Given the description of an element on the screen output the (x, y) to click on. 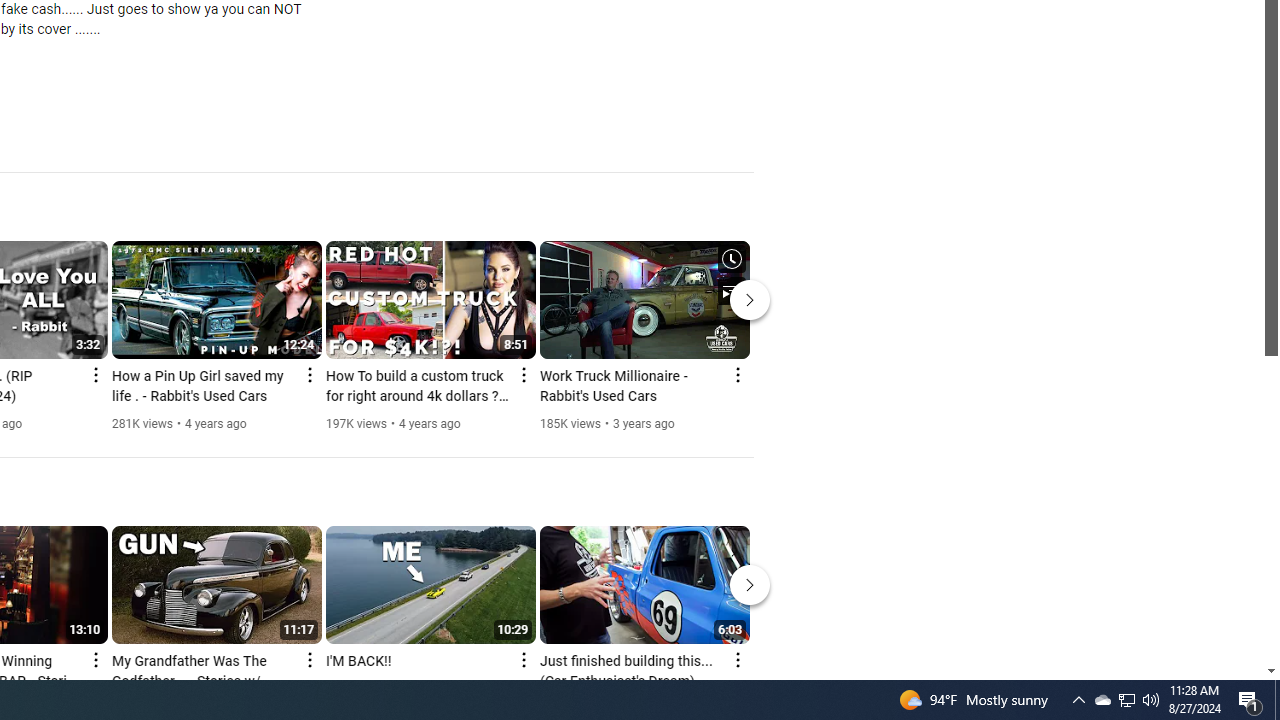
Action menu (736, 659)
Next (749, 584)
